Given the description of an element on the screen output the (x, y) to click on. 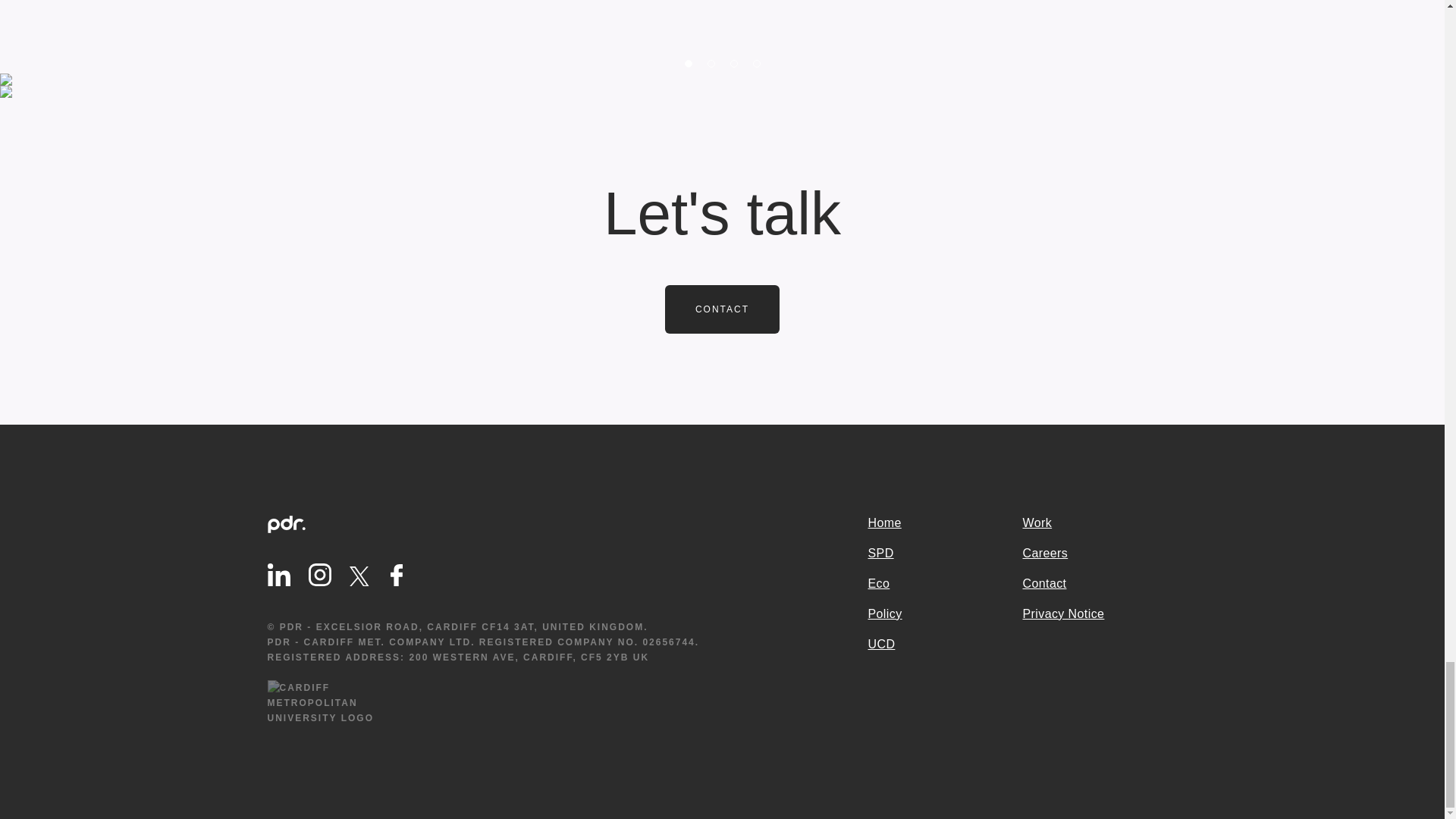
Eco (944, 583)
SPD (944, 553)
CONTACT (721, 309)
Home (944, 522)
